Given the description of an element on the screen output the (x, y) to click on. 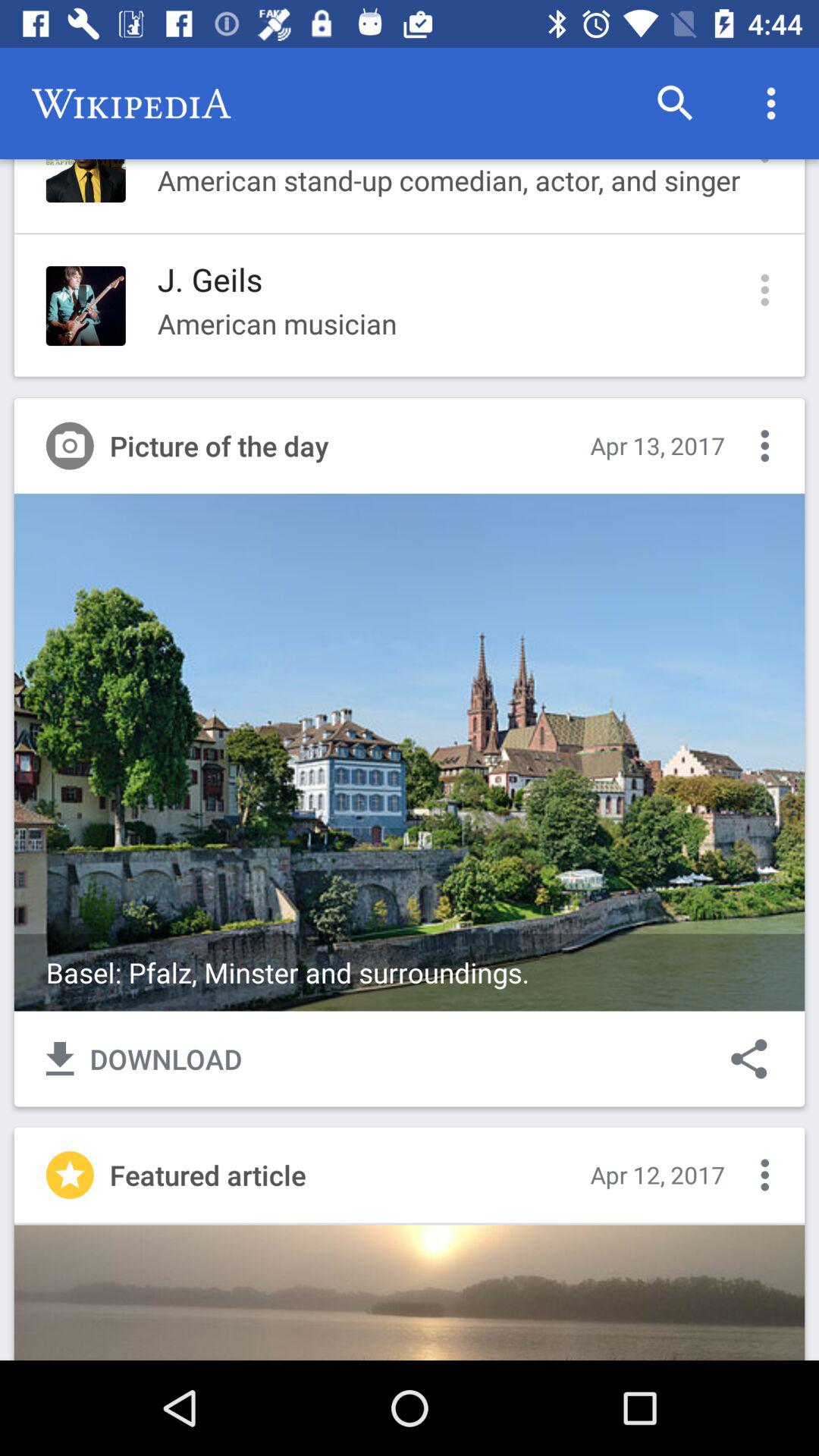
select image which is below american musician (409, 751)
select the option download which is above featured article (144, 1058)
click on the camera option to the left of picture of the day text (69, 446)
go to wikipedia (130, 103)
click on search icon (675, 103)
